Given the description of an element on the screen output the (x, y) to click on. 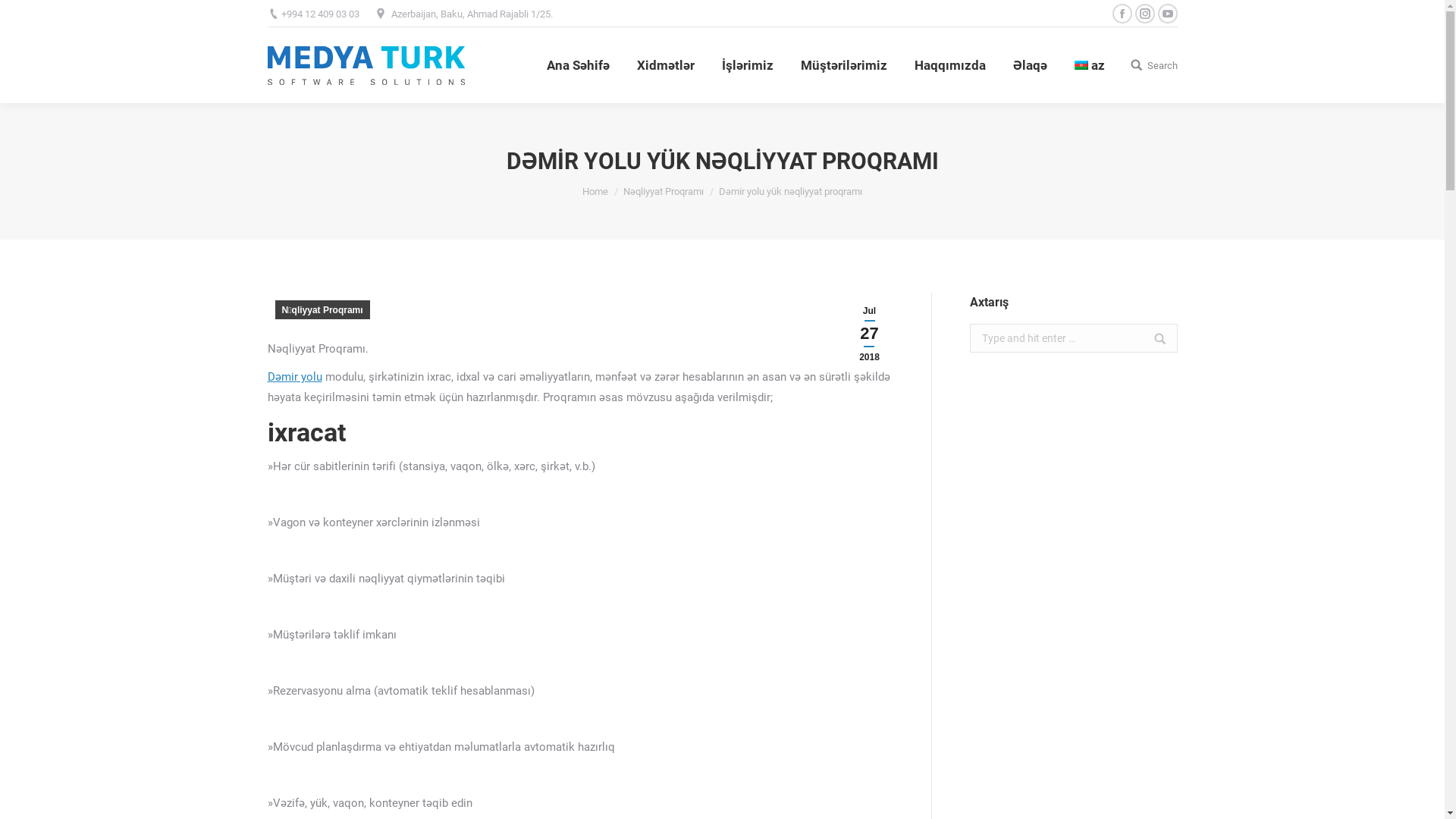
YouTube Element type: text (1166, 13)
Jul
27
2018 Element type: text (869, 333)
Go! Element type: text (21, 14)
Go! Element type: text (1152, 346)
Search Element type: text (1152, 65)
Facebook Element type: text (278, 628)
Instagram Element type: text (1144, 13)
Instagram Element type: text (323, 628)
submit Element type: text (682, 625)
Submit Element type: text (614, 625)
Facebook Element type: text (1121, 13)
Home Element type: text (595, 191)
Post Comment Element type: text (49, 14)
az Element type: text (1088, 64)
YouTube Element type: text (300, 628)
